Given the description of an element on the screen output the (x, y) to click on. 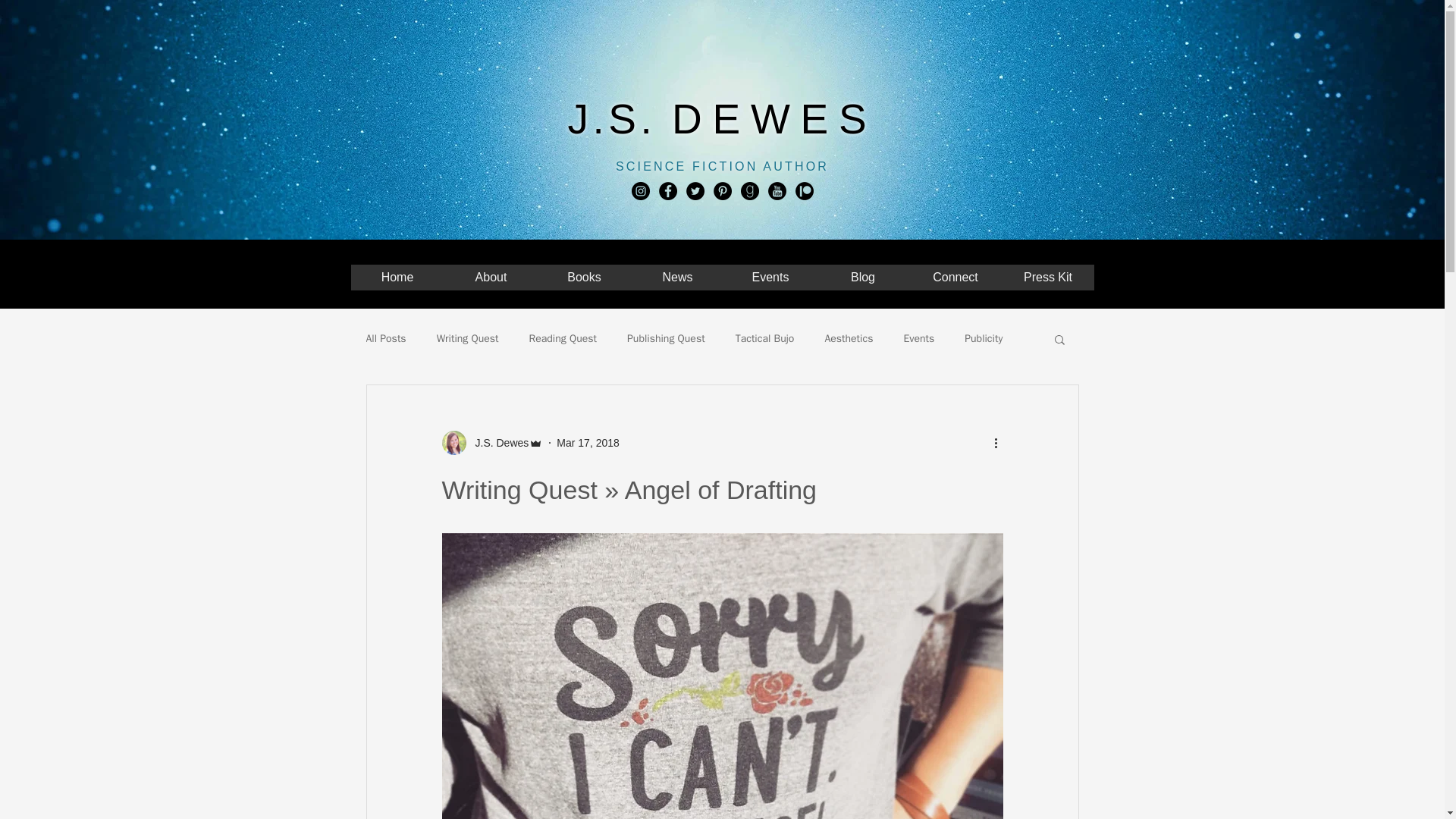
Press Kit (1047, 277)
Reading Quest (562, 338)
Events (918, 338)
News (676, 277)
Writing Quest (467, 338)
Blog (861, 277)
J.S. (619, 118)
Books (583, 277)
Publishing Quest (665, 338)
DEWES (773, 118)
